Given the description of an element on the screen output the (x, y) to click on. 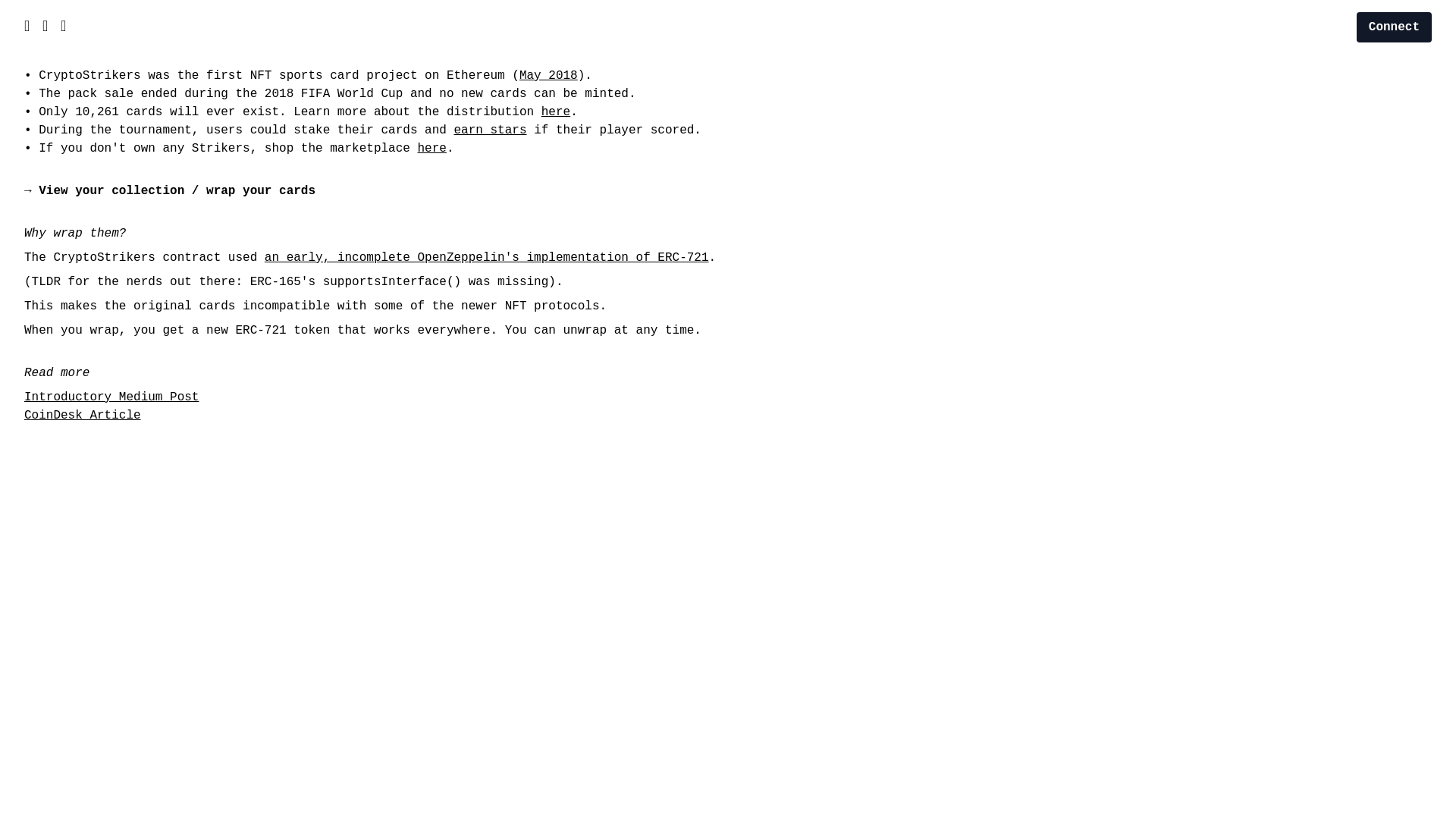
Introductory Medium Post Element type: text (111, 397)
here Element type: text (555, 112)
earn stars Element type: text (489, 130)
May 2018 Element type: text (548, 75)
here Element type: text (431, 148)
Connect Element type: text (1393, 27)
CoinDesk Article Element type: text (82, 415)
